Given the description of an element on the screen output the (x, y) to click on. 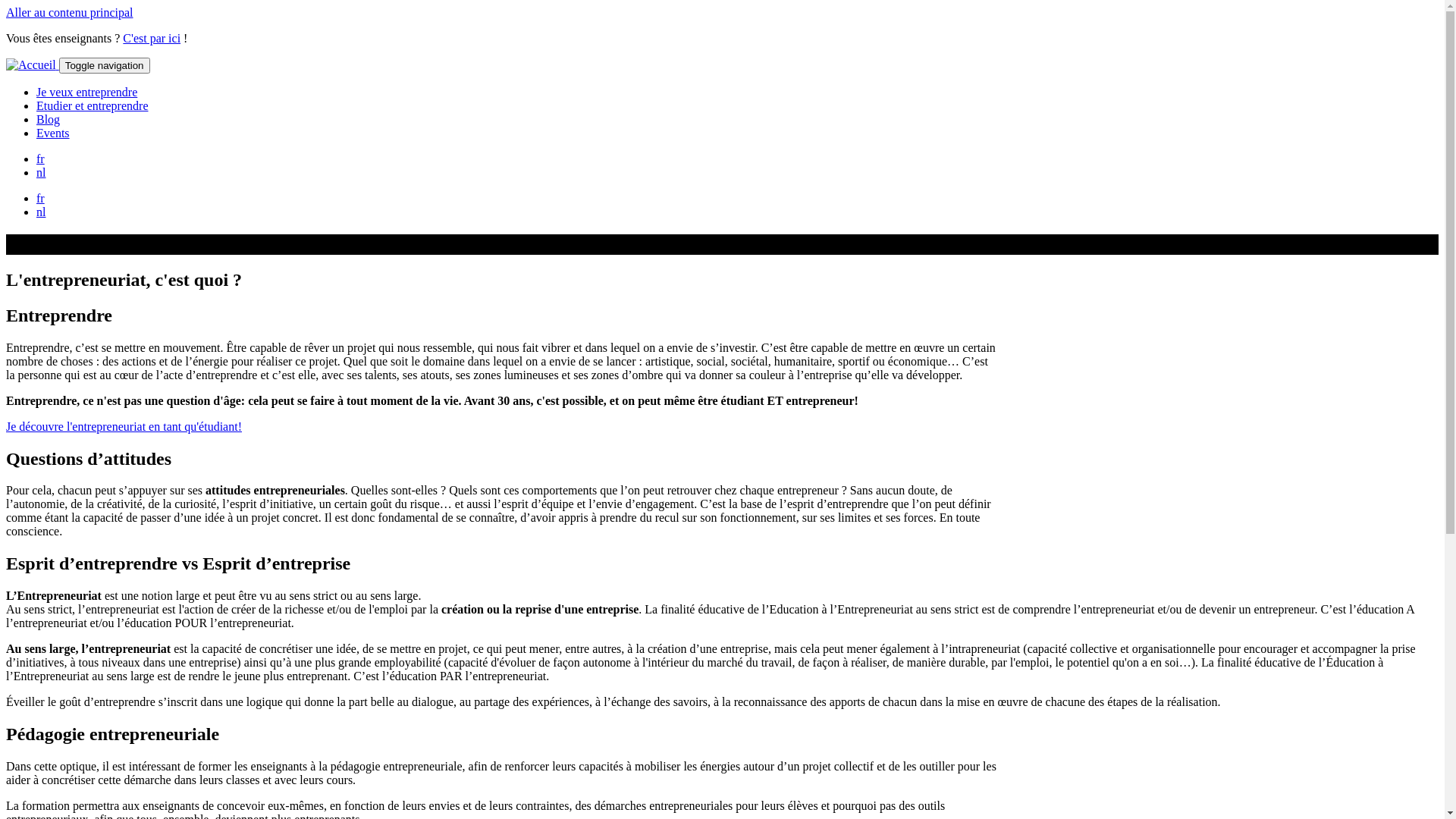
Accueil Element type: hover (32, 64)
Events Element type: text (52, 132)
Etudier et entreprendre Element type: text (91, 105)
fr Element type: text (40, 158)
Je veux entreprendre Element type: text (86, 91)
C'est par ici Element type: text (151, 37)
Toggle navigation Element type: text (104, 65)
nl Element type: text (40, 211)
Aller au contenu principal Element type: text (69, 12)
nl Element type: text (40, 172)
fr Element type: text (40, 197)
Blog Element type: text (47, 118)
